Given the description of an element on the screen output the (x, y) to click on. 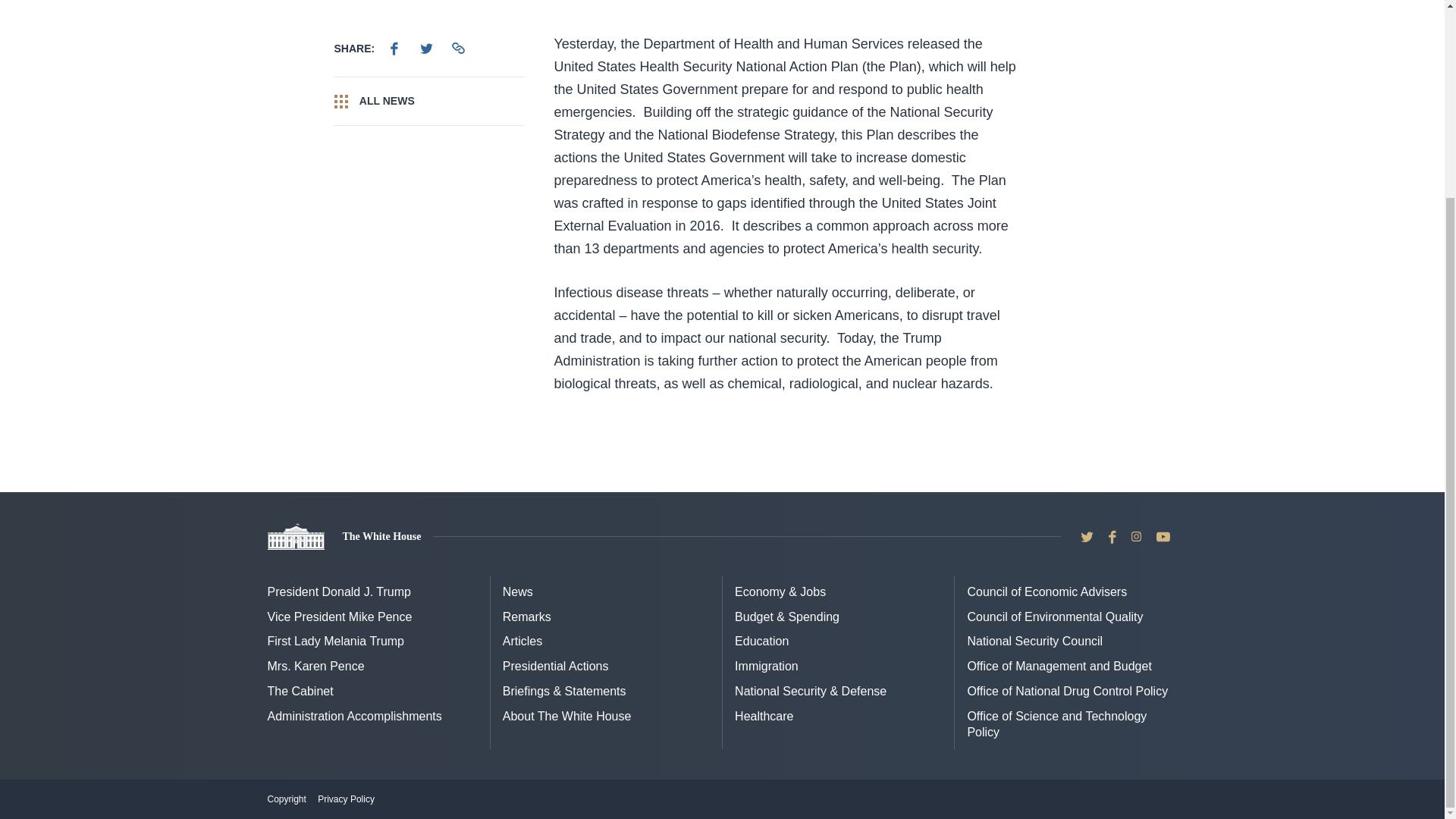
The Cabinet (299, 690)
Administration Accomplishments (353, 716)
Vice President Mike Pence (339, 616)
Immigration (766, 666)
Articles (521, 640)
Mrs. Karen Pence (315, 666)
Remarks (526, 616)
About The White House (566, 716)
Education (762, 640)
Council of Economic Advisers (1046, 591)
